Given the description of an element on the screen output the (x, y) to click on. 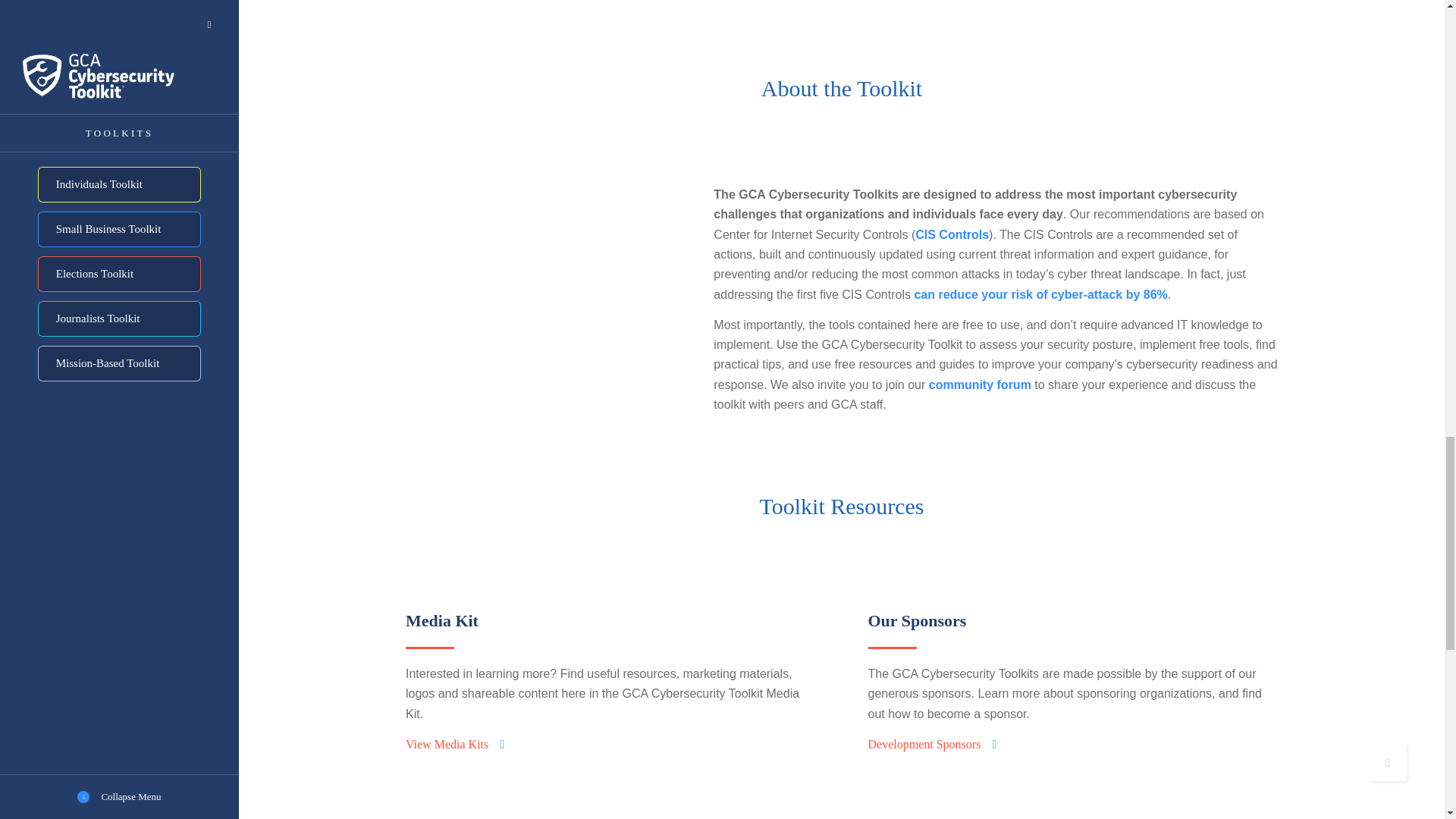
CIS Controls (951, 234)
View Media Kits (454, 744)
community forum (979, 384)
Development Sponsors (931, 744)
